Given the description of an element on the screen output the (x, y) to click on. 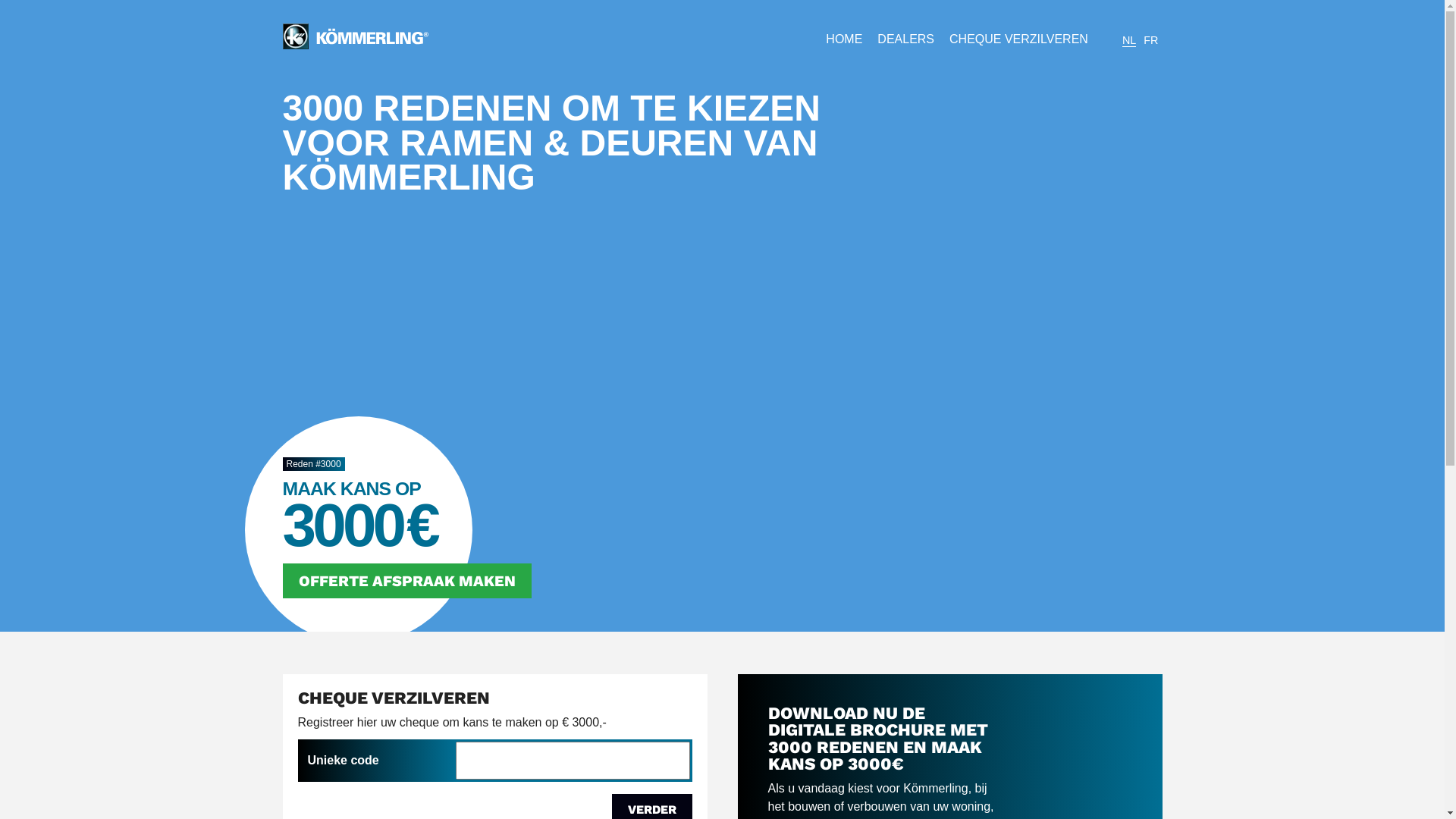
OFFERTE AFSPRAAK MAKEN Element type: text (406, 580)
HOME Element type: text (843, 38)
DEALERS Element type: text (905, 38)
CHEQUE VERZILVEREN Element type: text (1018, 38)
FR Element type: text (1150, 40)
